Given the description of an element on the screen output the (x, y) to click on. 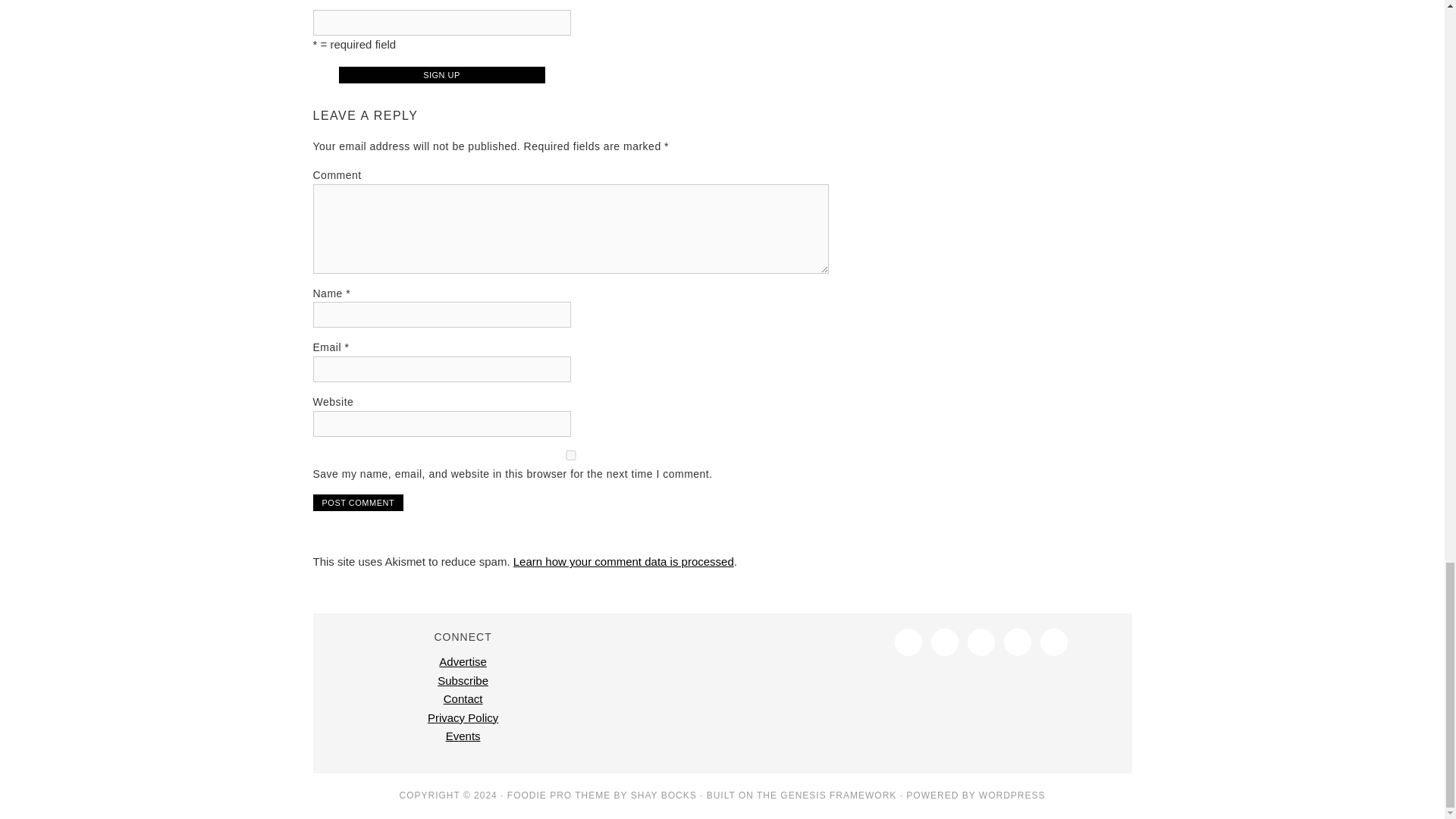
Sign Up (440, 74)
Post Comment (358, 502)
Learn how your comment data is processed (623, 561)
Sign Up (440, 74)
Post Comment (358, 502)
yes (570, 455)
